Given the description of an element on the screen output the (x, y) to click on. 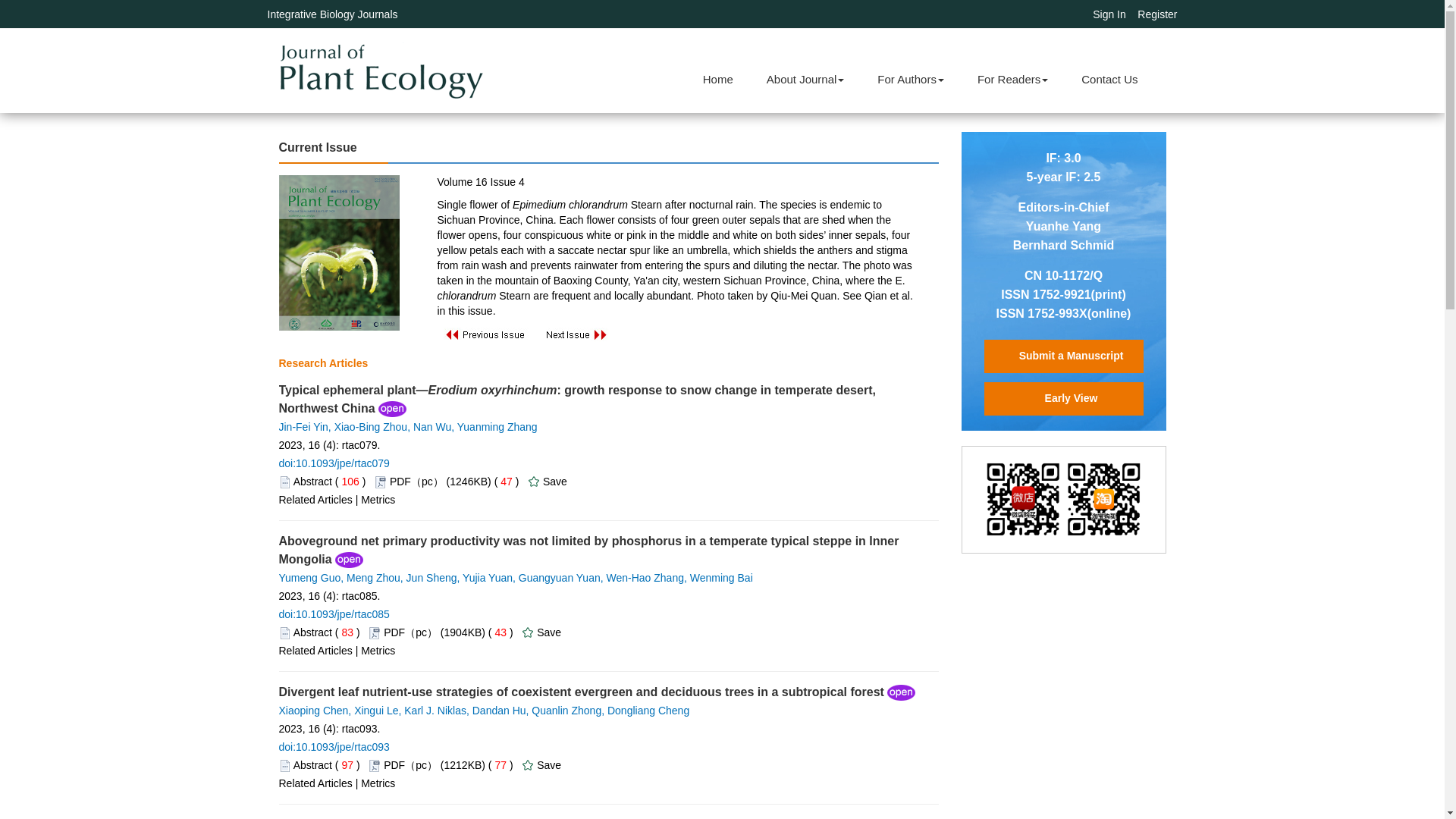
Integrative Biology Journals (331, 14)
Related Articles (315, 499)
Save (548, 632)
Register (1156, 14)
Metrics (377, 499)
Sign In (1109, 14)
Abstract (312, 481)
Abstract (312, 632)
About Journal (805, 79)
Abstract (312, 765)
Metrics (377, 650)
Related Articles (315, 650)
For Authors (910, 79)
For Readers (1012, 79)
Save (555, 481)
